Given the description of an element on the screen output the (x, y) to click on. 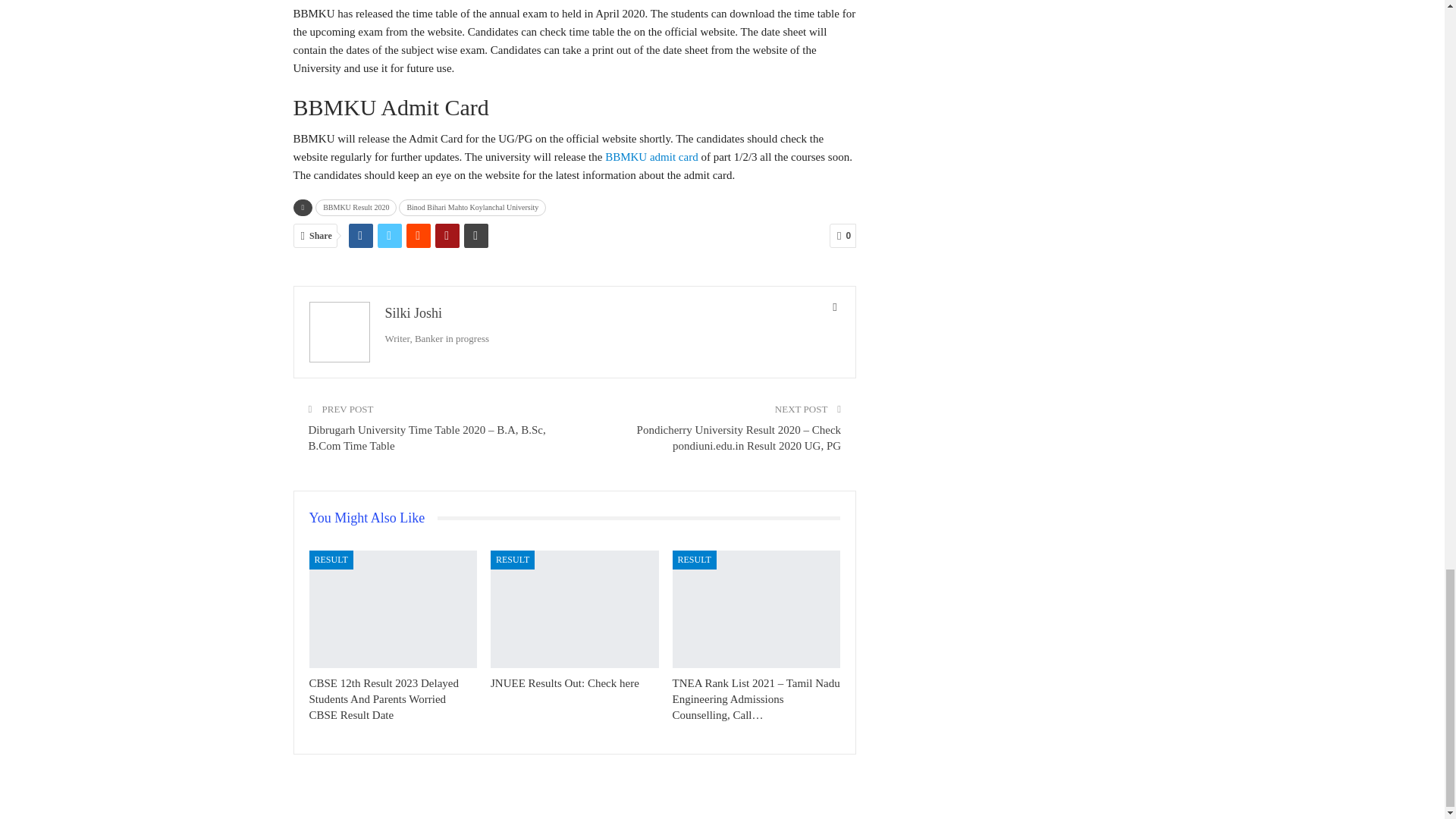
Binod Bihari Mahto Koylanchal University (472, 207)
BBMKU Result 2020 (355, 207)
0 (842, 235)
Silki Joshi (413, 313)
JNUEE Results Out: Check here (574, 609)
BBMKU admit card (651, 156)
JNUEE Results Out: Check here (564, 683)
